Given the description of an element on the screen output the (x, y) to click on. 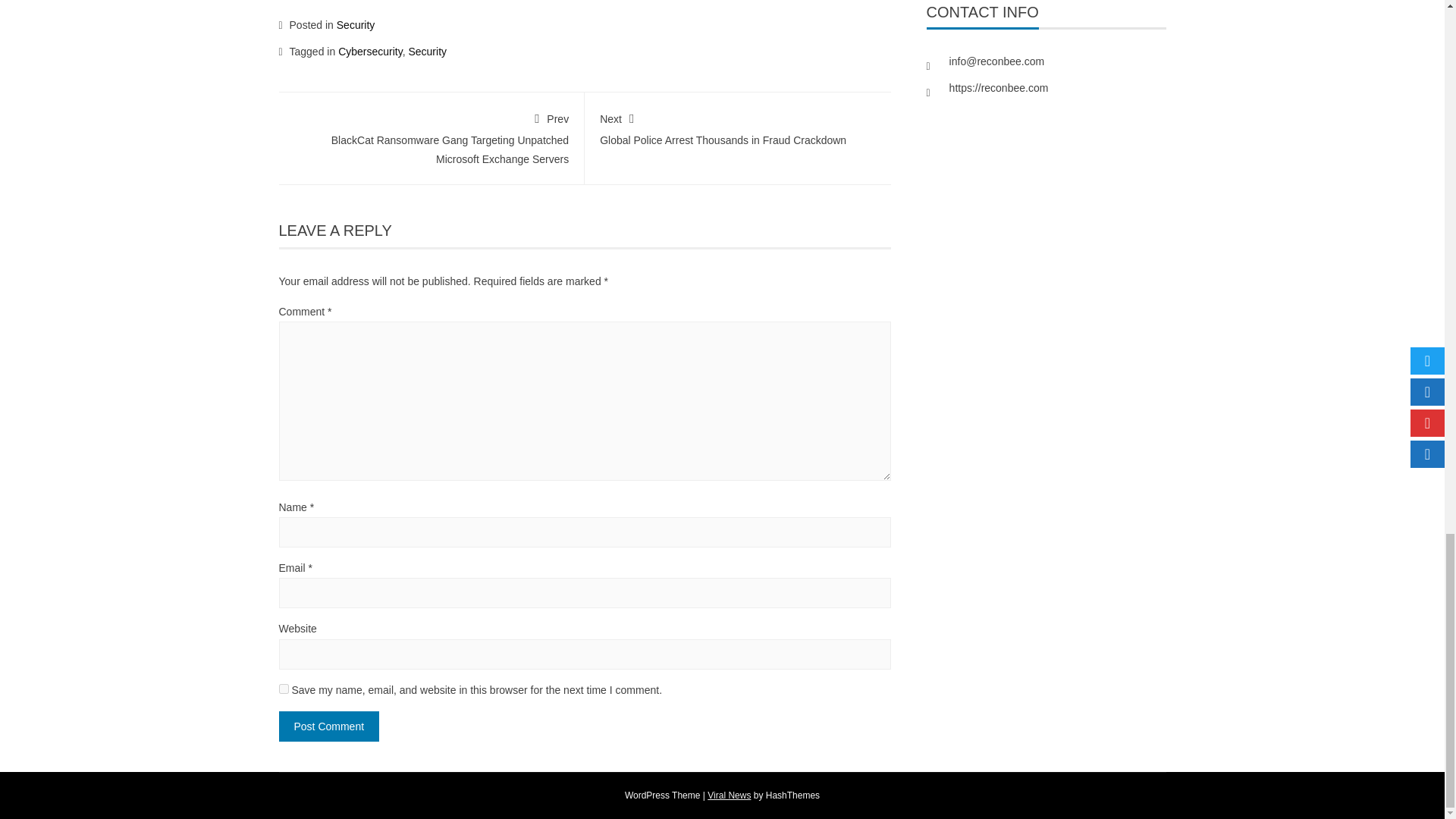
yes (283, 688)
Download Viral News (729, 795)
Post Comment (329, 726)
